Given the description of an element on the screen output the (x, y) to click on. 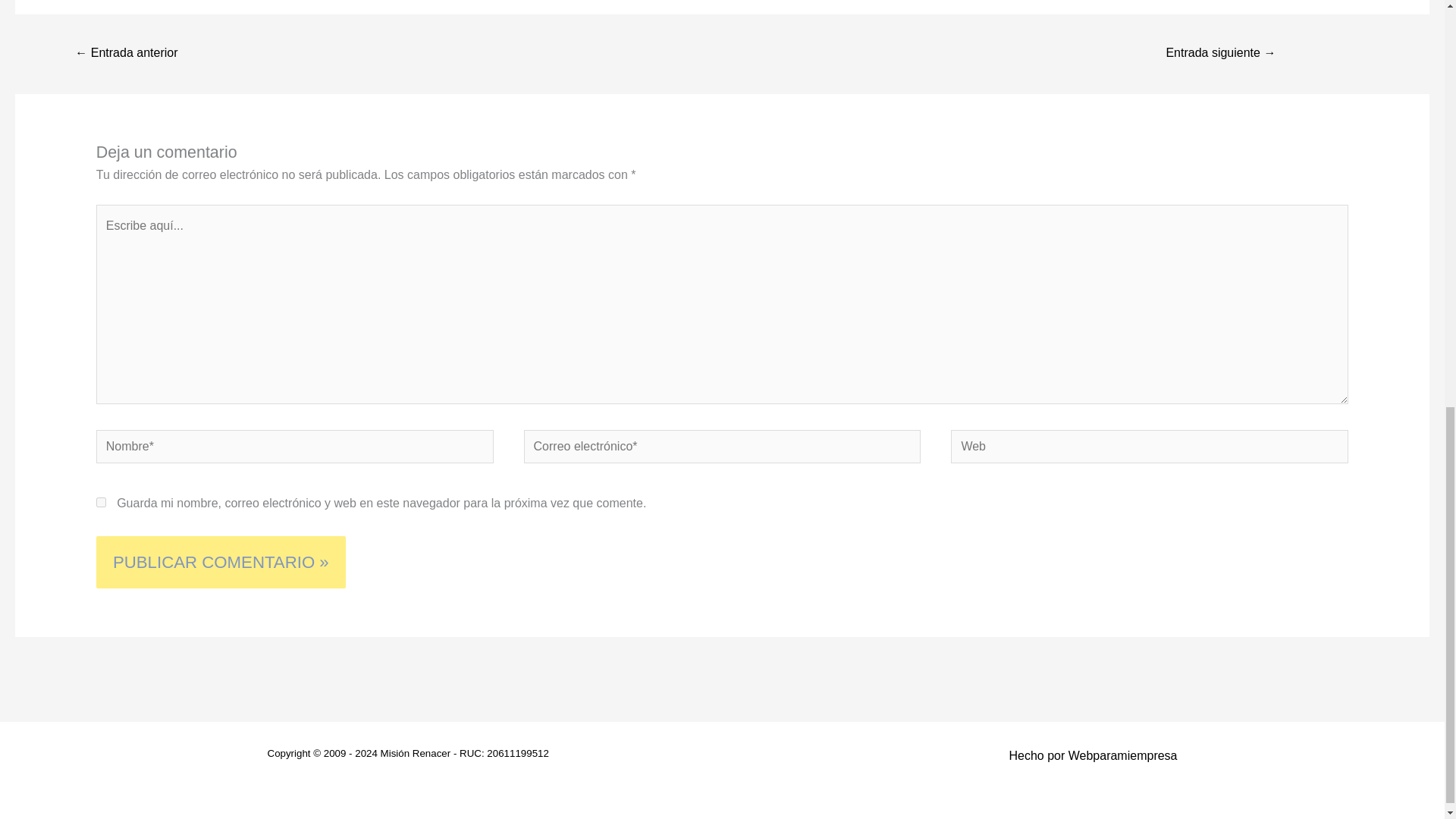
yes (101, 501)
If you should Meet Online Dating Partners (125, 53)
